Given the description of an element on the screen output the (x, y) to click on. 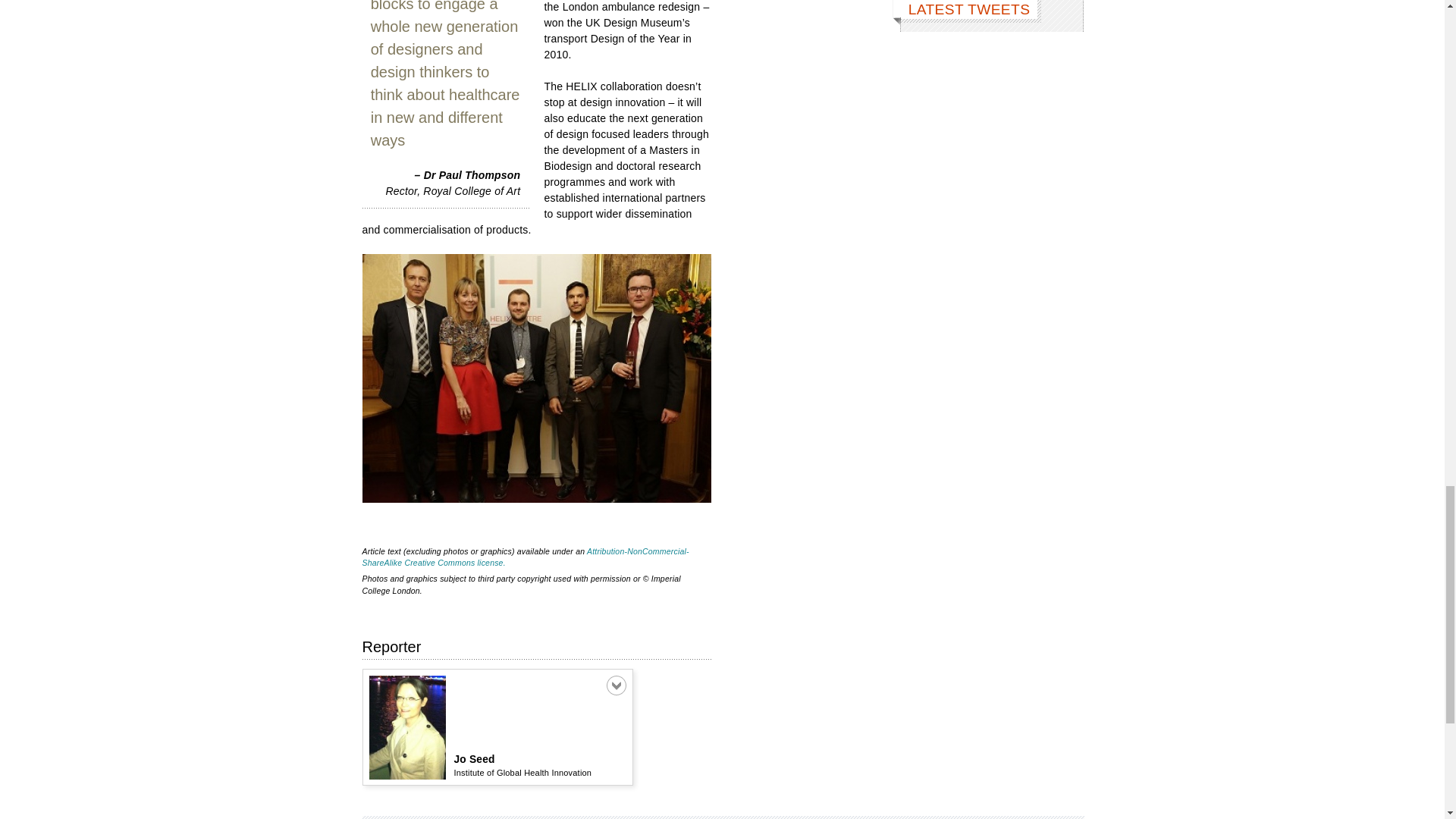
Some of the Helix team (536, 377)
Click to expand or contract (616, 685)
